Given the description of an element on the screen output the (x, y) to click on. 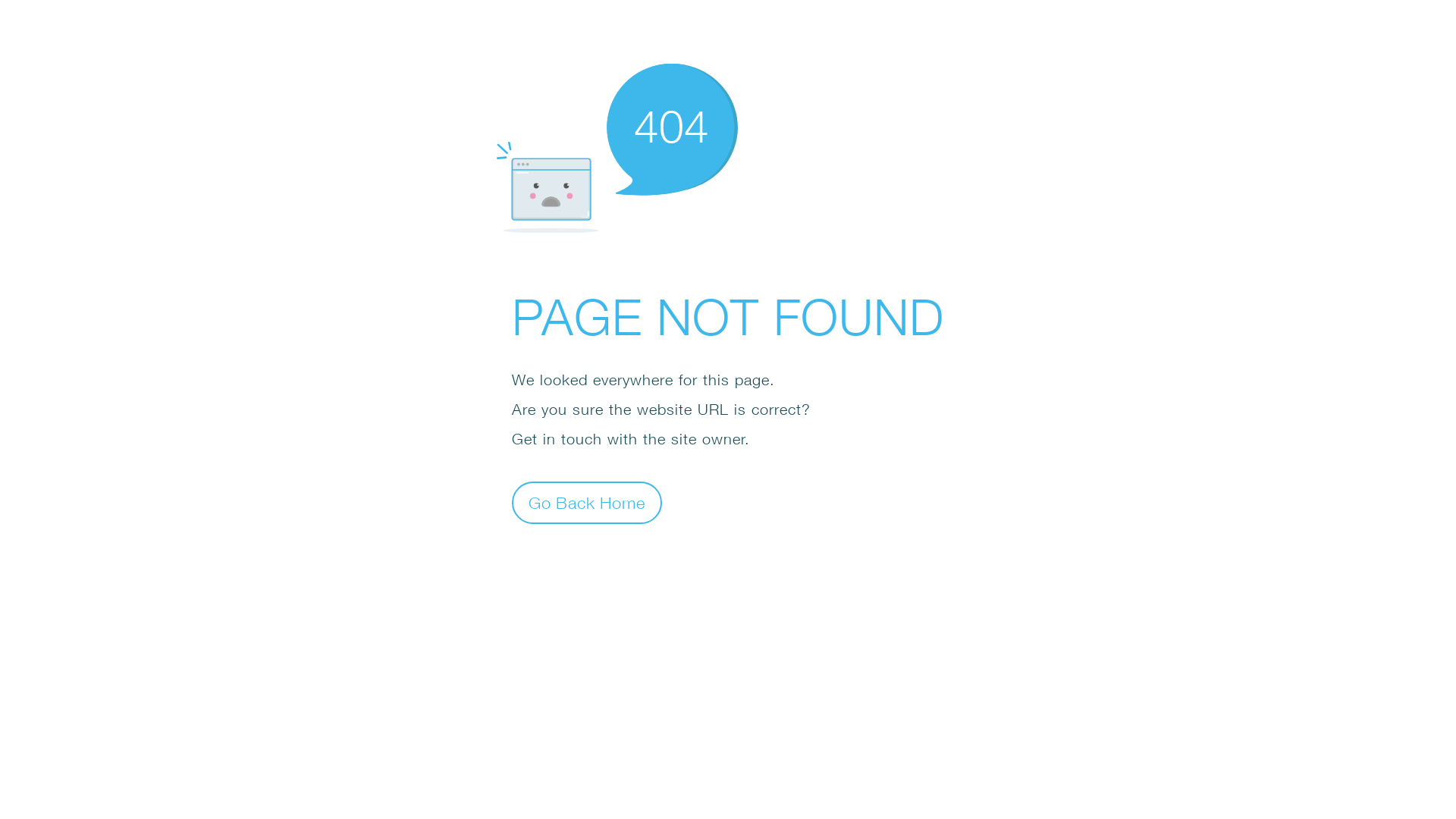
Go Back Home Element type: text (586, 502)
